Given the description of an element on the screen output the (x, y) to click on. 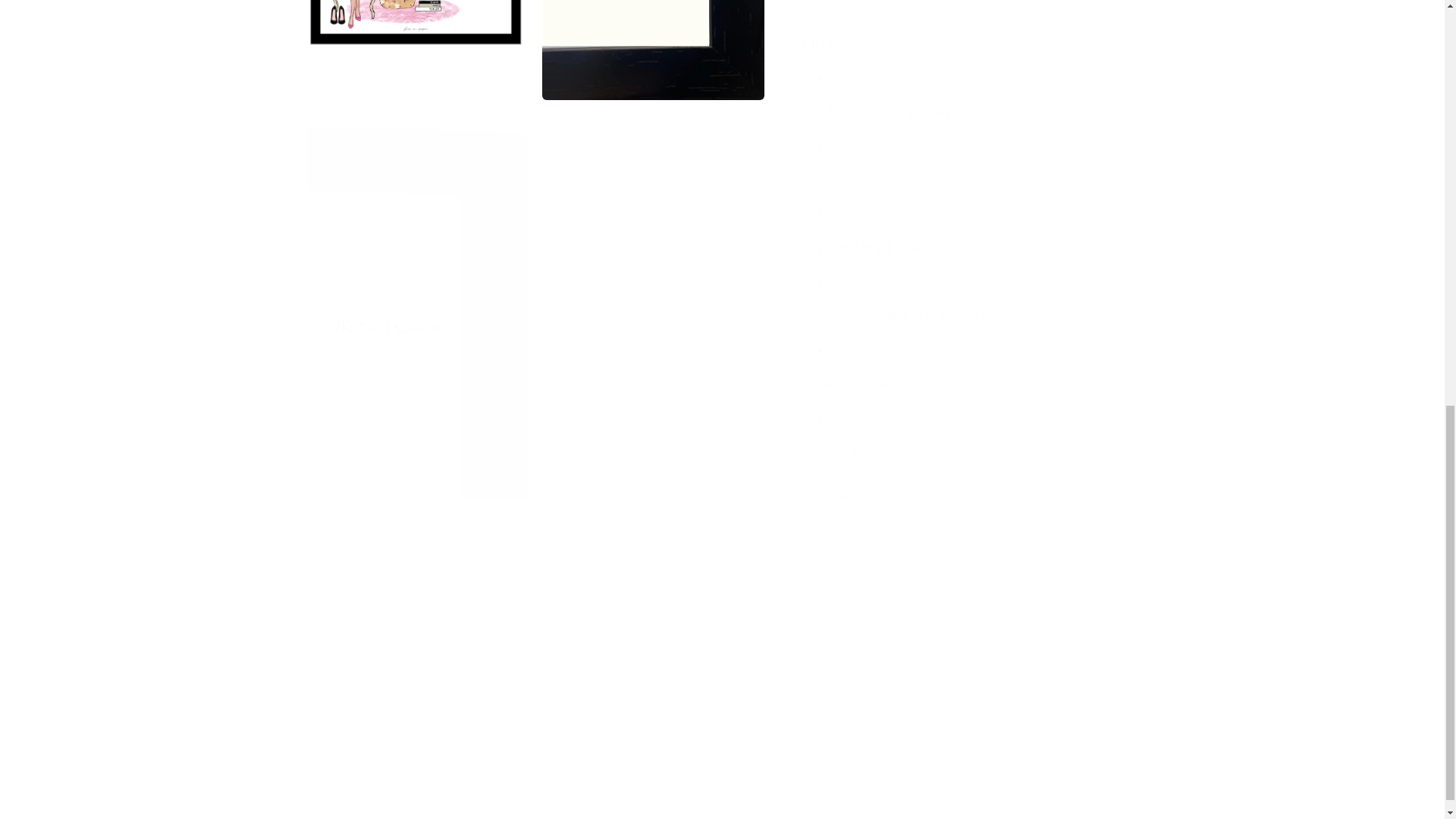
Open media 4 in modal (415, 279)
Open media 2 in modal (415, 36)
Open media 3 in modal (652, 36)
